Given the description of an element on the screen output the (x, y) to click on. 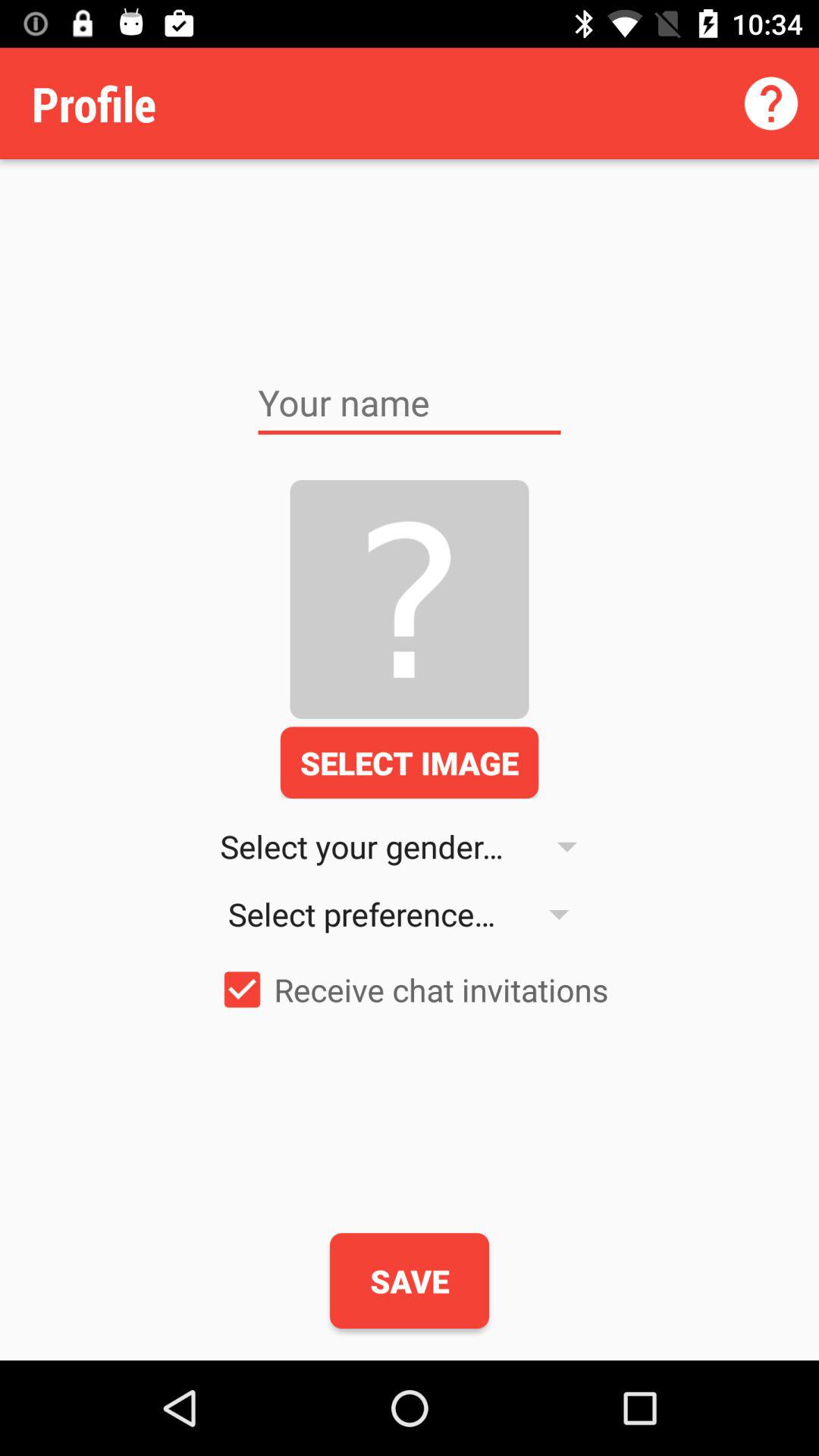
select save icon (409, 1280)
